Given the description of an element on the screen output the (x, y) to click on. 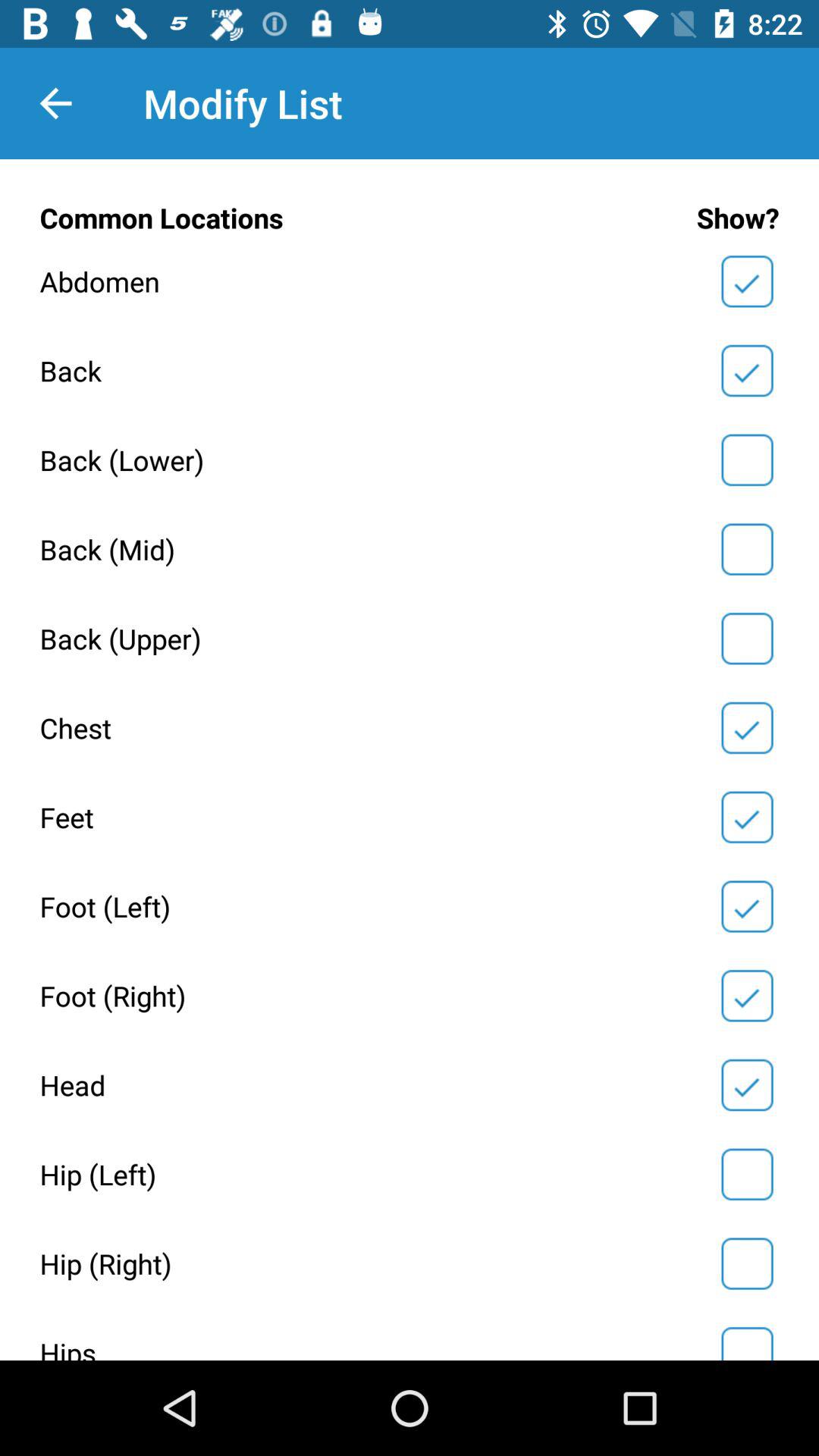
set location (747, 549)
